Given the description of an element on the screen output the (x, y) to click on. 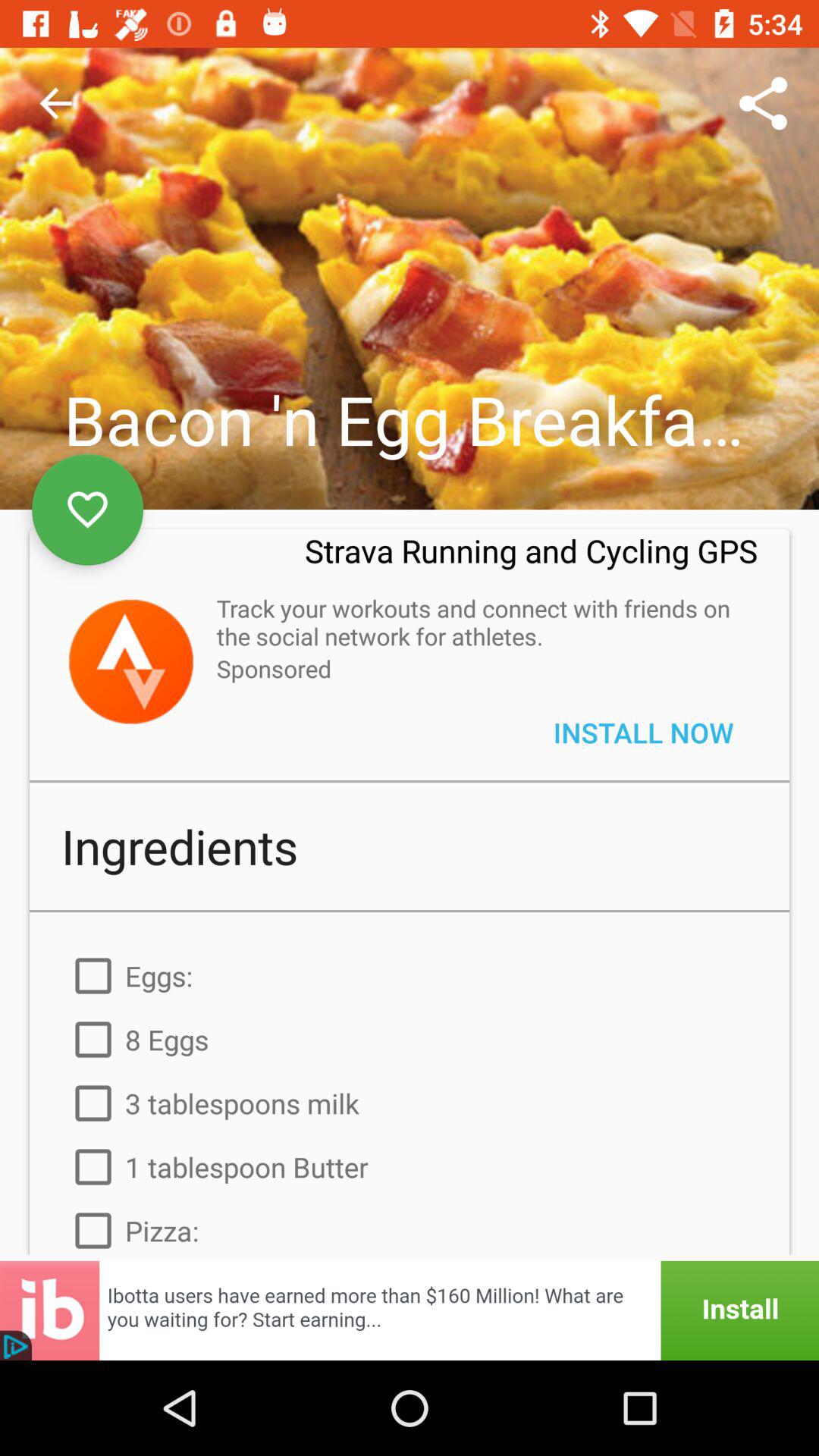
scroll to eggs:  icon (409, 975)
